Given the description of an element on the screen output the (x, y) to click on. 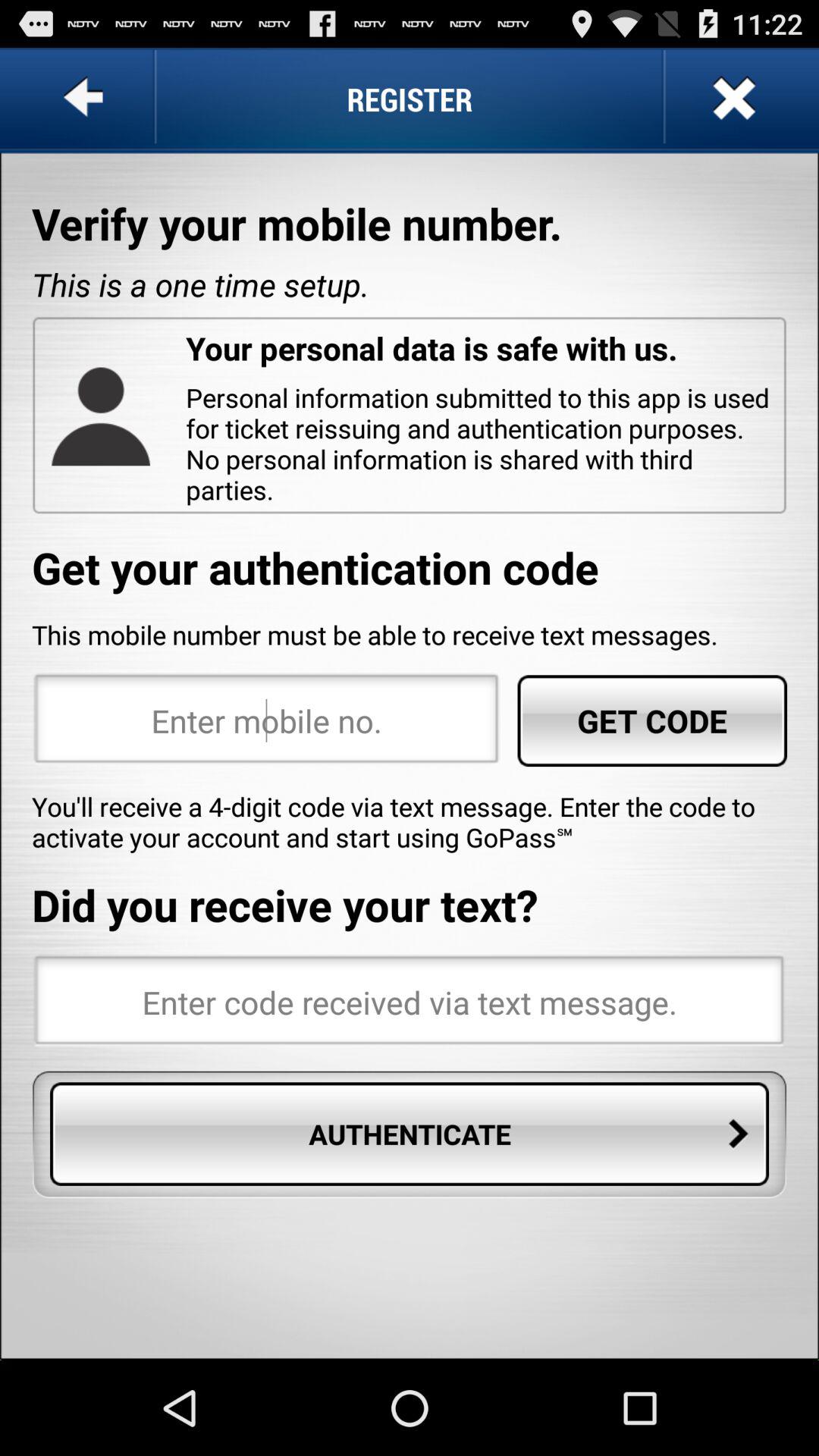
insert mobile number (266, 720)
